Given the description of an element on the screen output the (x, y) to click on. 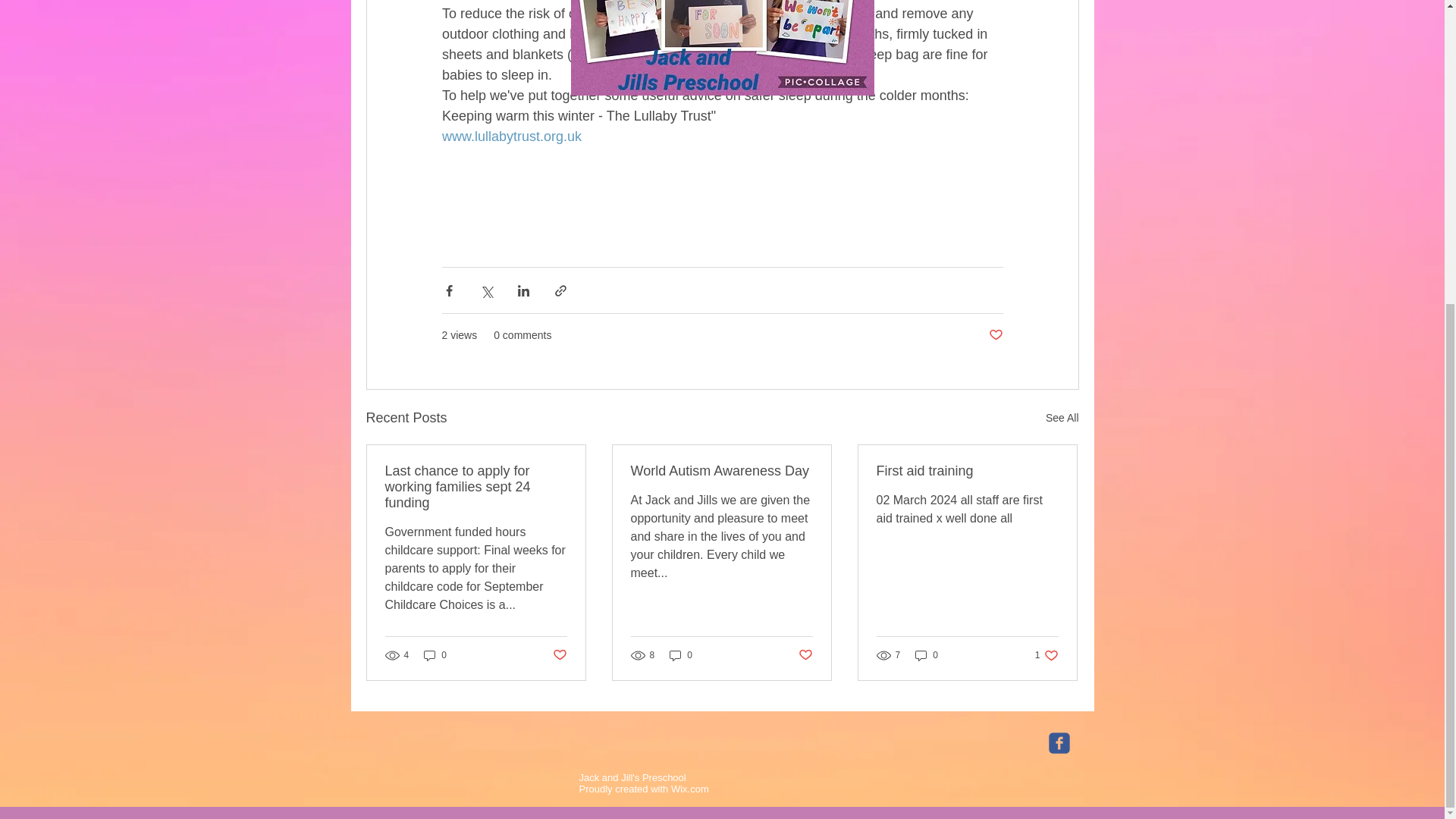
0 (926, 655)
World Autism Awareness Day (721, 471)
0 (681, 655)
Last chance to apply for working families sept 24 funding (476, 487)
First aid training (1046, 655)
Wix.com (967, 471)
0 (690, 788)
See All (435, 655)
Post not marked as liked (1061, 418)
